Given the description of an element on the screen output the (x, y) to click on. 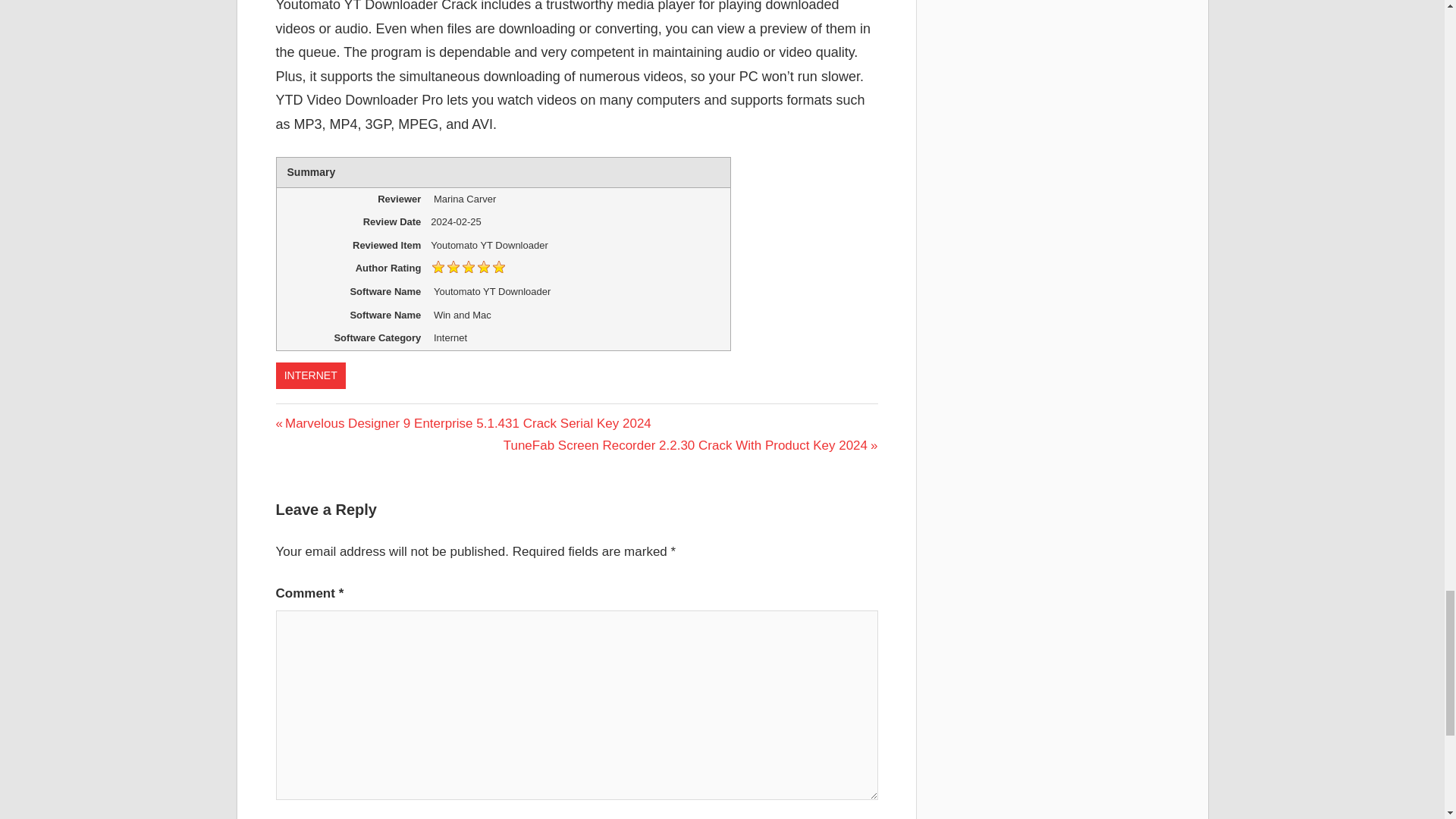
INTERNET (311, 375)
